Given the description of an element on the screen output the (x, y) to click on. 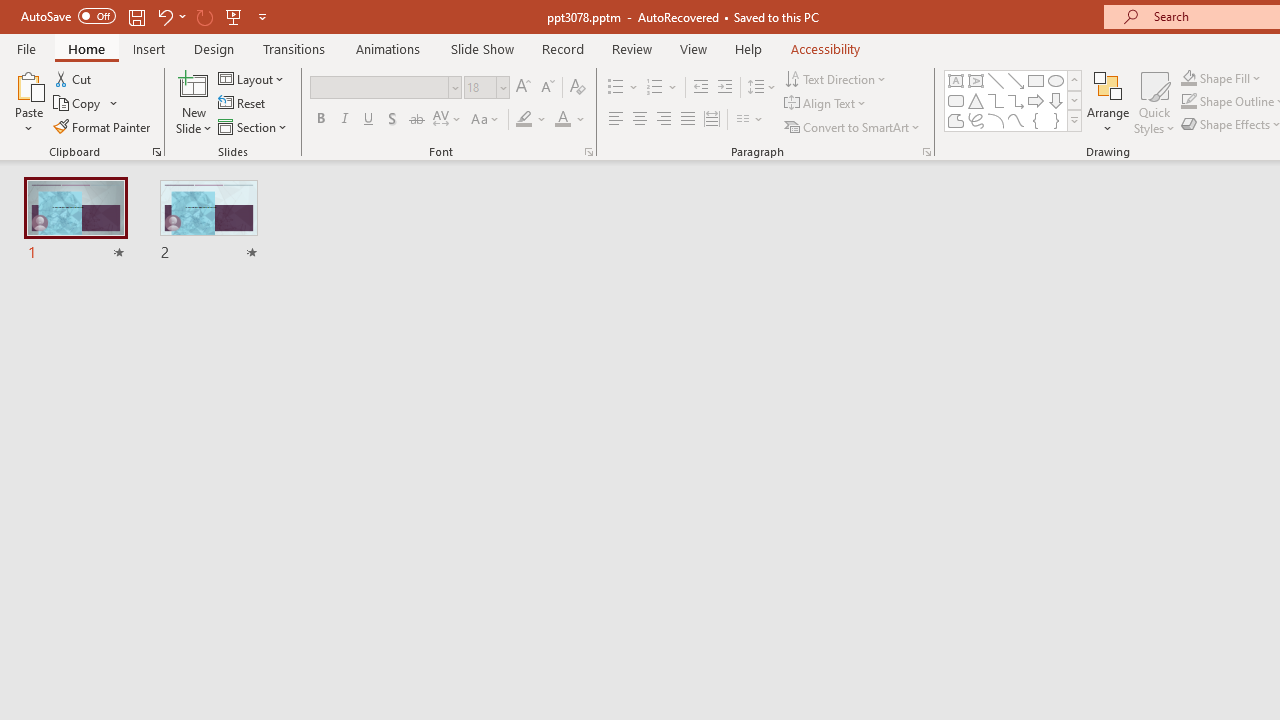
Text Direction (836, 78)
Isosceles Triangle (975, 100)
Convert to SmartArt (853, 126)
Paragraph... (926, 151)
Align Text (826, 103)
Increase Indent (725, 87)
Line (995, 80)
